Given the description of an element on the screen output the (x, y) to click on. 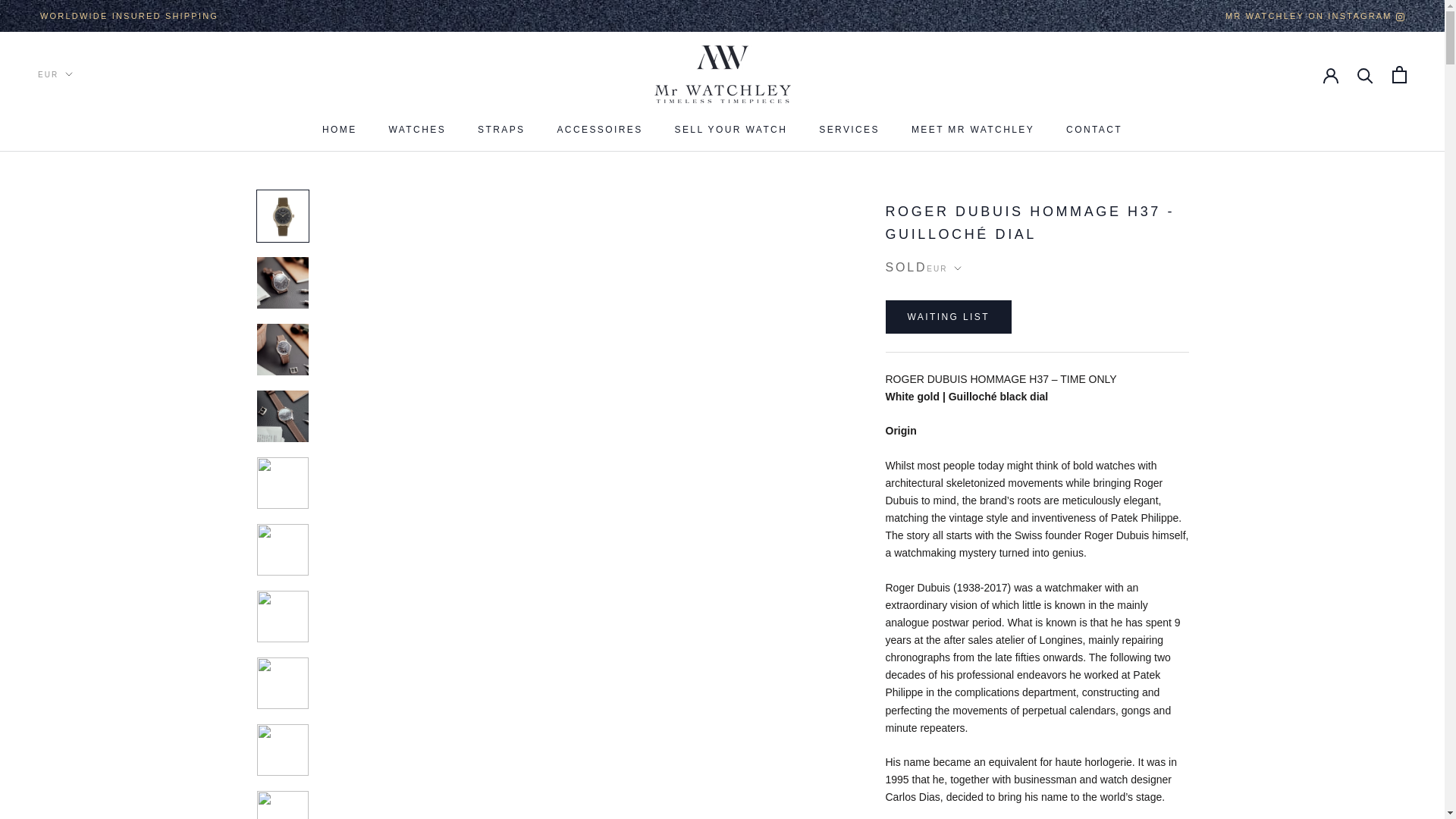
Currency selector (943, 268)
SERVICES (1093, 129)
MR WATCHLEY ON INSTAGRAM (848, 129)
Currency selector (500, 129)
